Given the description of an element on the screen output the (x, y) to click on. 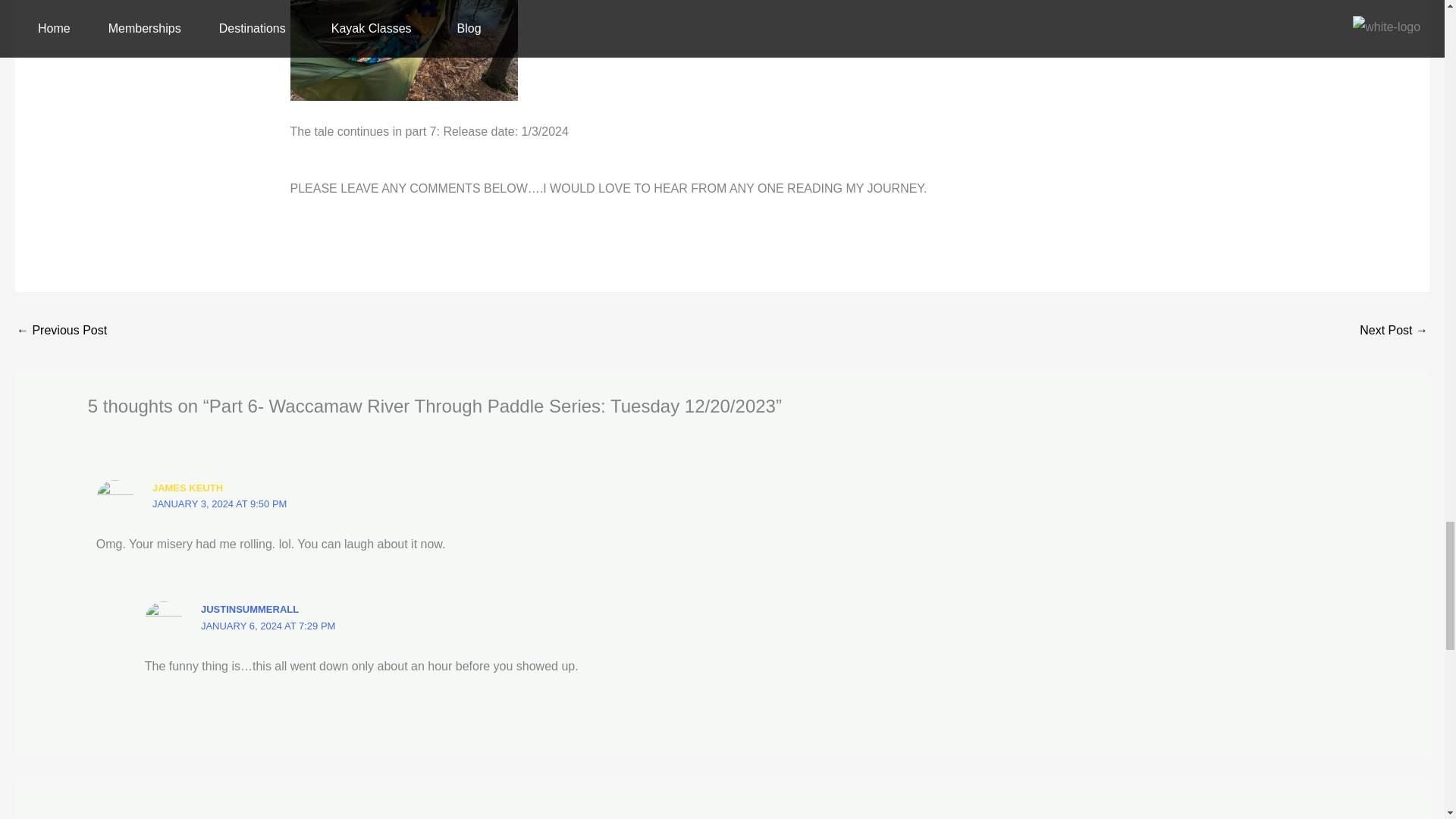
JANUARY 6, 2024 AT 7:29 PM (268, 625)
JANUARY 3, 2024 AT 9:50 PM (219, 503)
JUSTINSUMMERALL (249, 609)
